Given the description of an element on the screen output the (x, y) to click on. 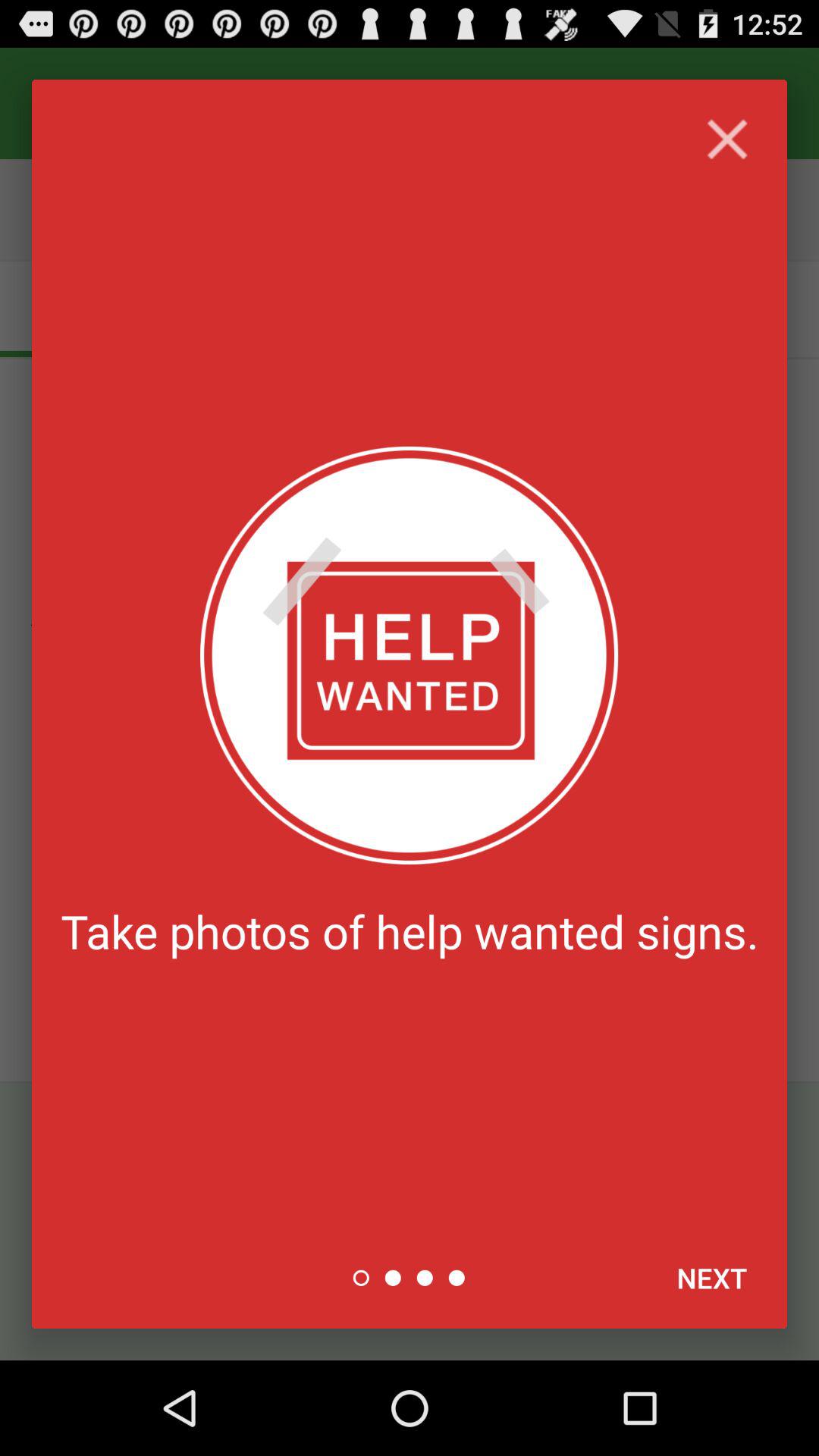
close advertisement (727, 139)
